Given the description of an element on the screen output the (x, y) to click on. 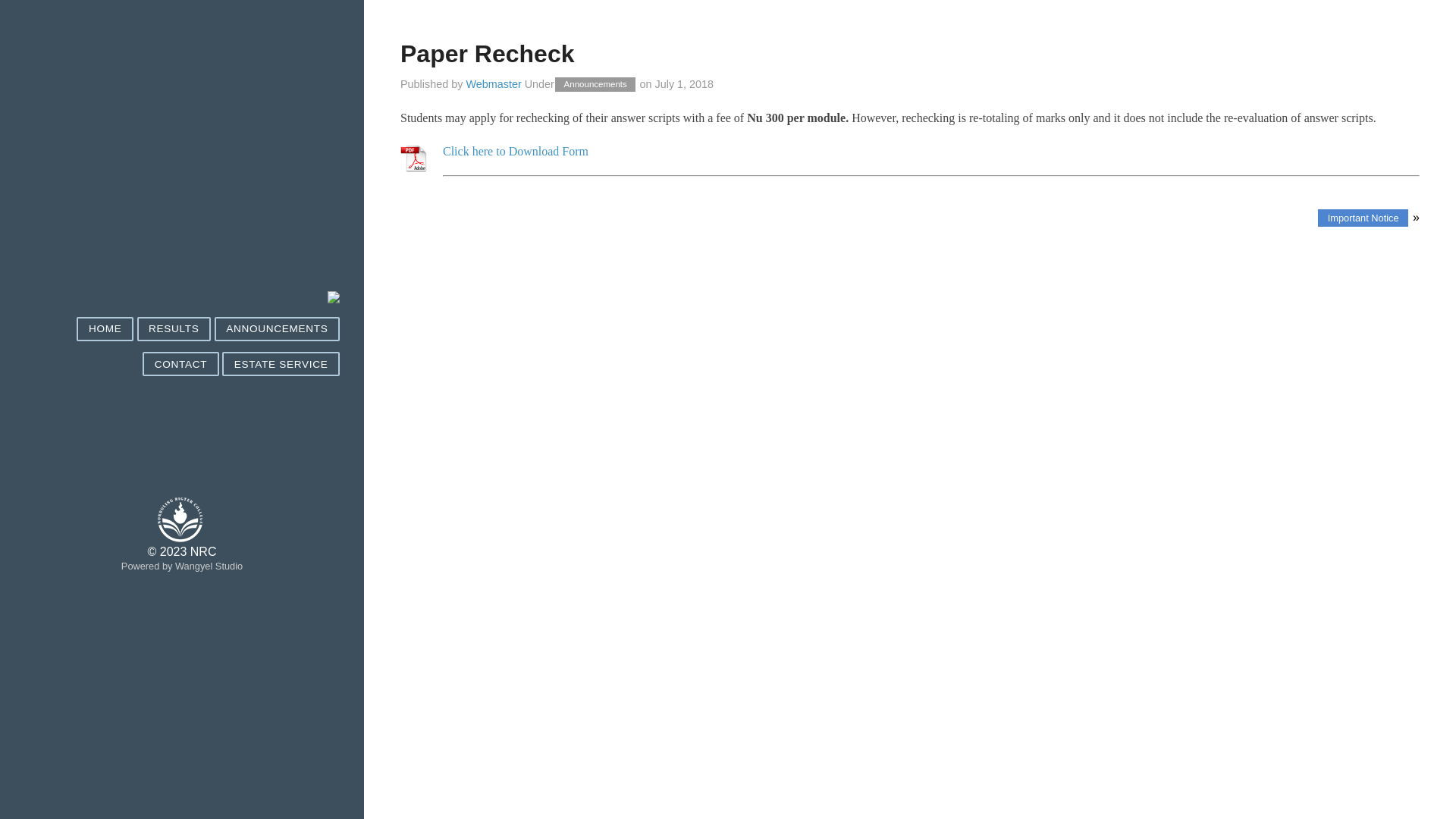
HOME Element type: text (104, 329)
Click here to Download Form Element type: text (515, 150)
Important Notice Element type: text (1362, 217)
ANNOUNCEMENTS Element type: text (276, 329)
Announcements Element type: text (595, 84)
RESULTS Element type: text (173, 329)
CONTACT Element type: text (180, 363)
ESTATE SERVICE Element type: text (280, 363)
Powered by Wangyel Studio Element type: text (181, 565)
Webmaster Element type: text (492, 84)
